Given the description of an element on the screen output the (x, y) to click on. 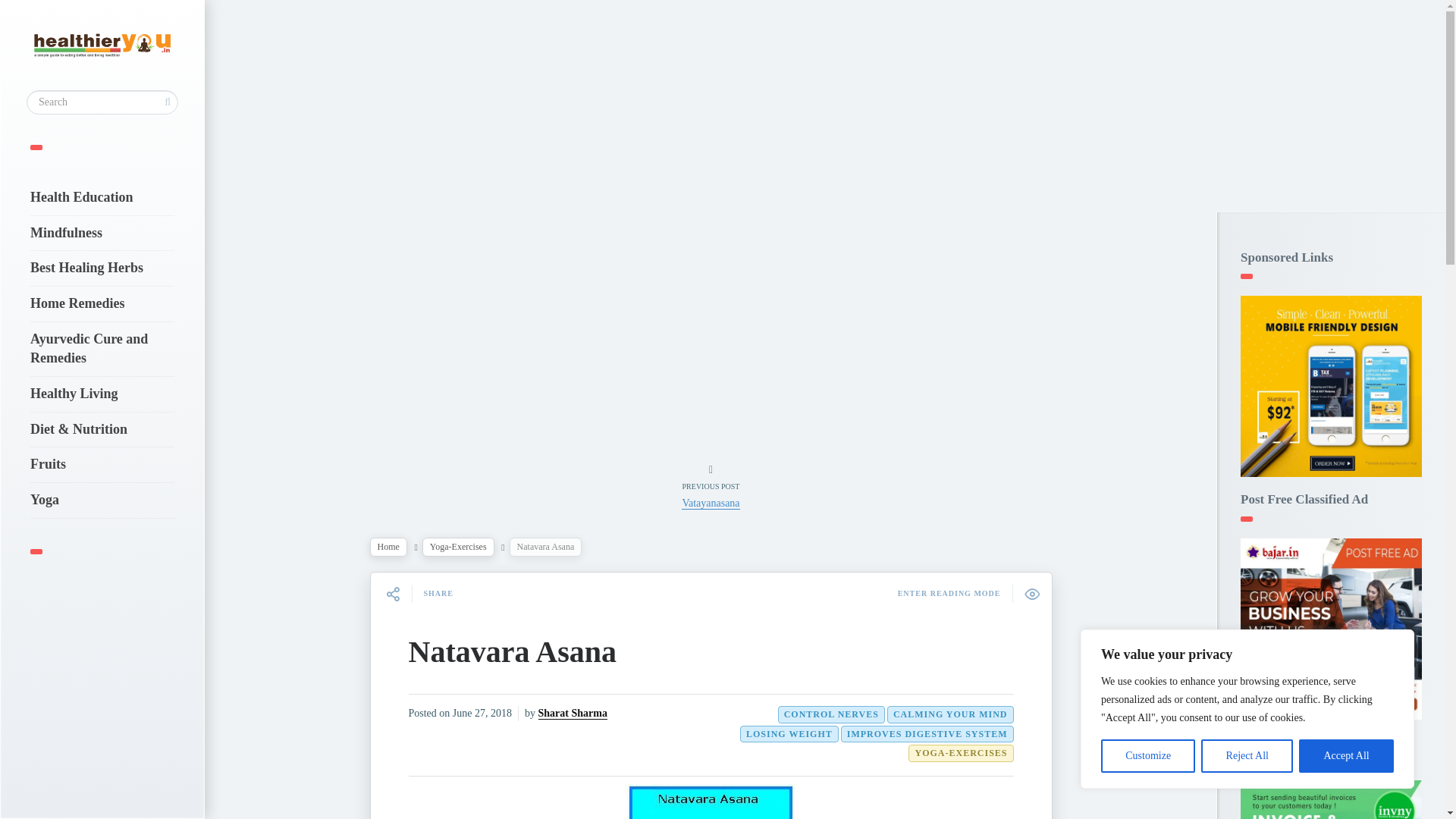
Accept All (1345, 756)
Search for: (101, 102)
Search (20, 9)
Fruits (102, 464)
Health Education (102, 197)
Healthy Living (102, 393)
Best Healing Herbs (102, 267)
Reject All (1246, 756)
Yoga (102, 500)
Customize (1147, 756)
Ayurvedic Cure and Remedies (102, 348)
View all posts in Yoga-Exercises (458, 546)
Vatayanasana (710, 503)
Mindfulness (102, 233)
